Given the description of an element on the screen output the (x, y) to click on. 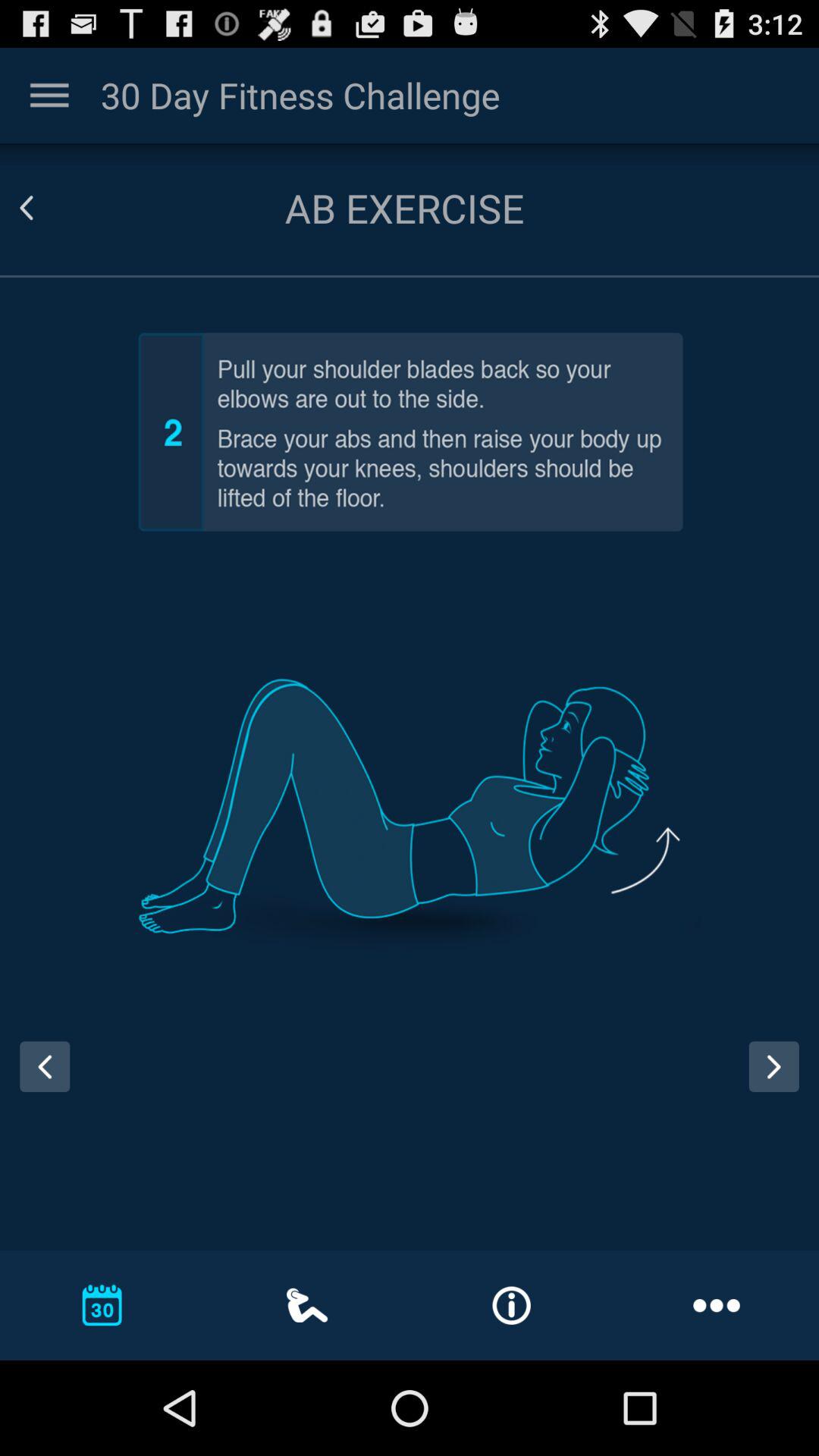
go back (44, 1066)
